Given the description of an element on the screen output the (x, y) to click on. 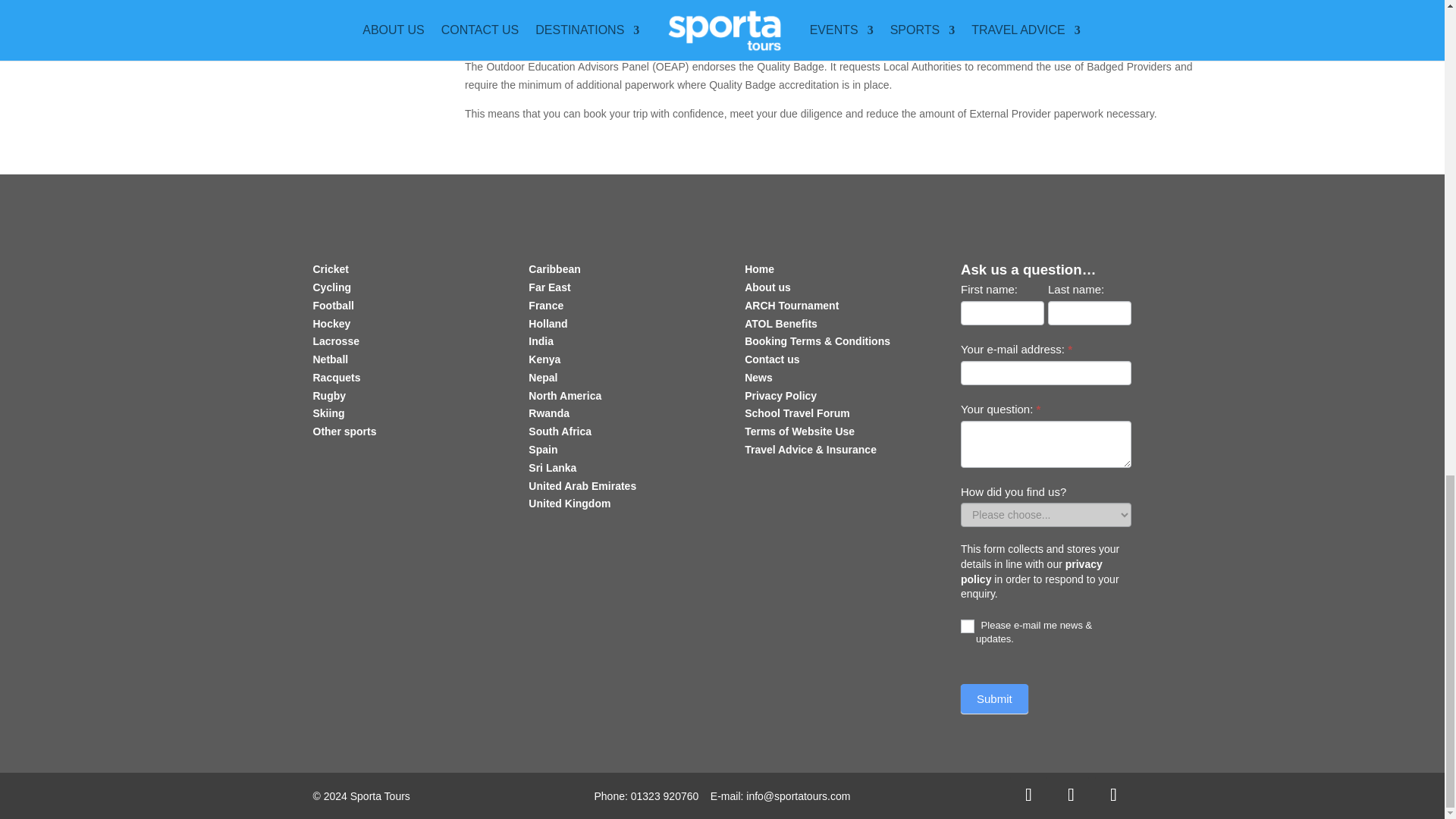
Submit (993, 698)
Follow on Facebook (1028, 794)
Follow on Instagram (1112, 794)
Follow on X (1070, 794)
